Given the description of an element on the screen output the (x, y) to click on. 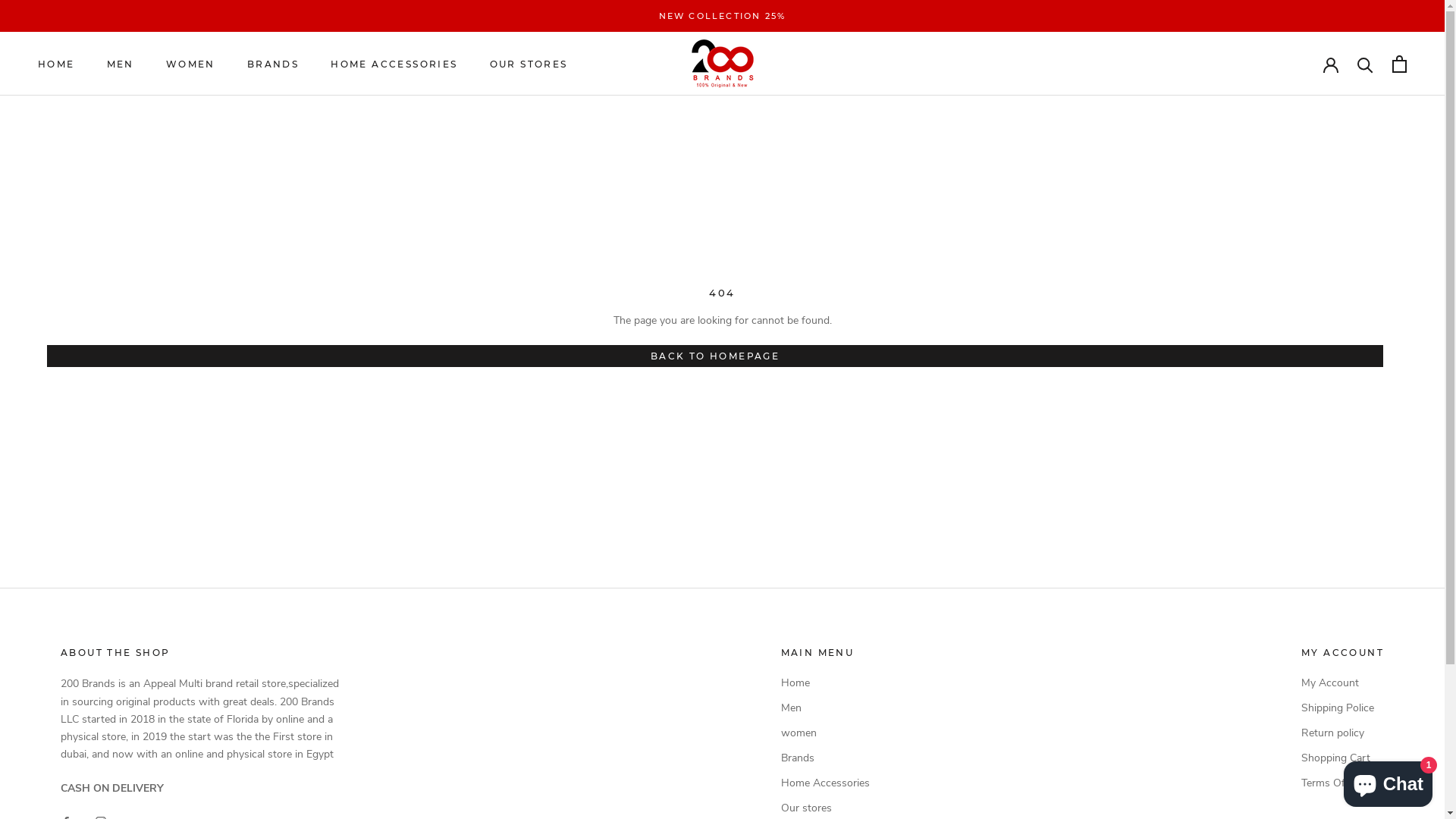
Shipping Police Element type: text (1342, 707)
MEN Element type: text (120, 63)
Return policy Element type: text (1342, 732)
BACK TO HOMEPAGE Element type: text (714, 355)
Home Element type: text (825, 682)
Shopping Cart Element type: text (1342, 757)
Our stores Element type: text (825, 807)
Men Element type: text (825, 707)
HOME ACCESSORIES Element type: text (393, 63)
WOMEN Element type: text (190, 63)
OUR STORES
OUR STORES Element type: text (528, 63)
My Account Element type: text (1342, 682)
BRANDS Element type: text (272, 63)
HOME
HOME Element type: text (56, 63)
Home Accessories Element type: text (825, 782)
Terms Of Use Element type: text (1342, 782)
Shopify online store chat Element type: hover (1388, 780)
Brands Element type: text (825, 757)
women Element type: text (825, 732)
